Given the description of an element on the screen output the (x, y) to click on. 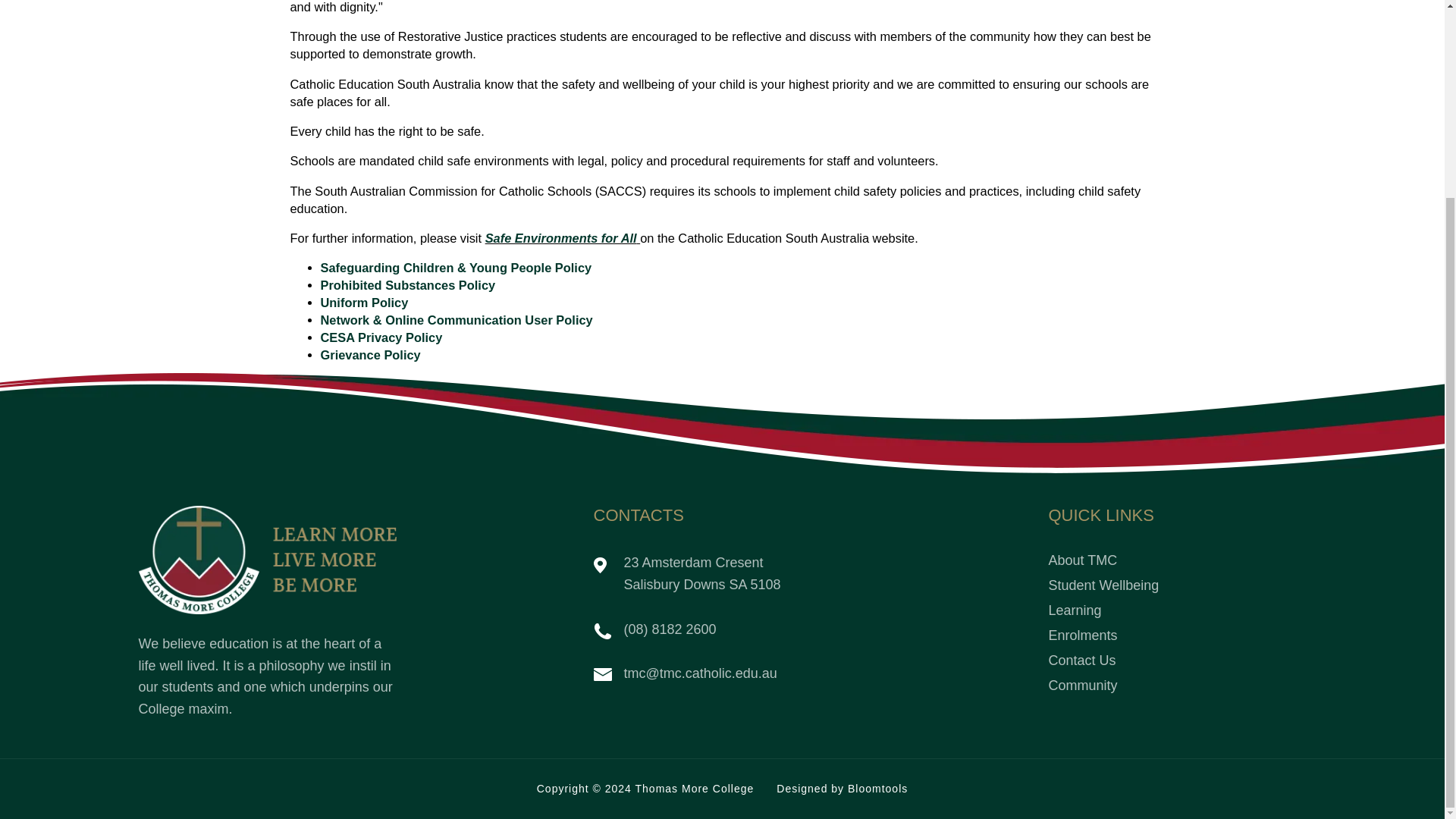
Thomas More College (267, 560)
Visit Us (686, 574)
Call Us (654, 629)
Email Us (684, 673)
